Given the description of an element on the screen output the (x, y) to click on. 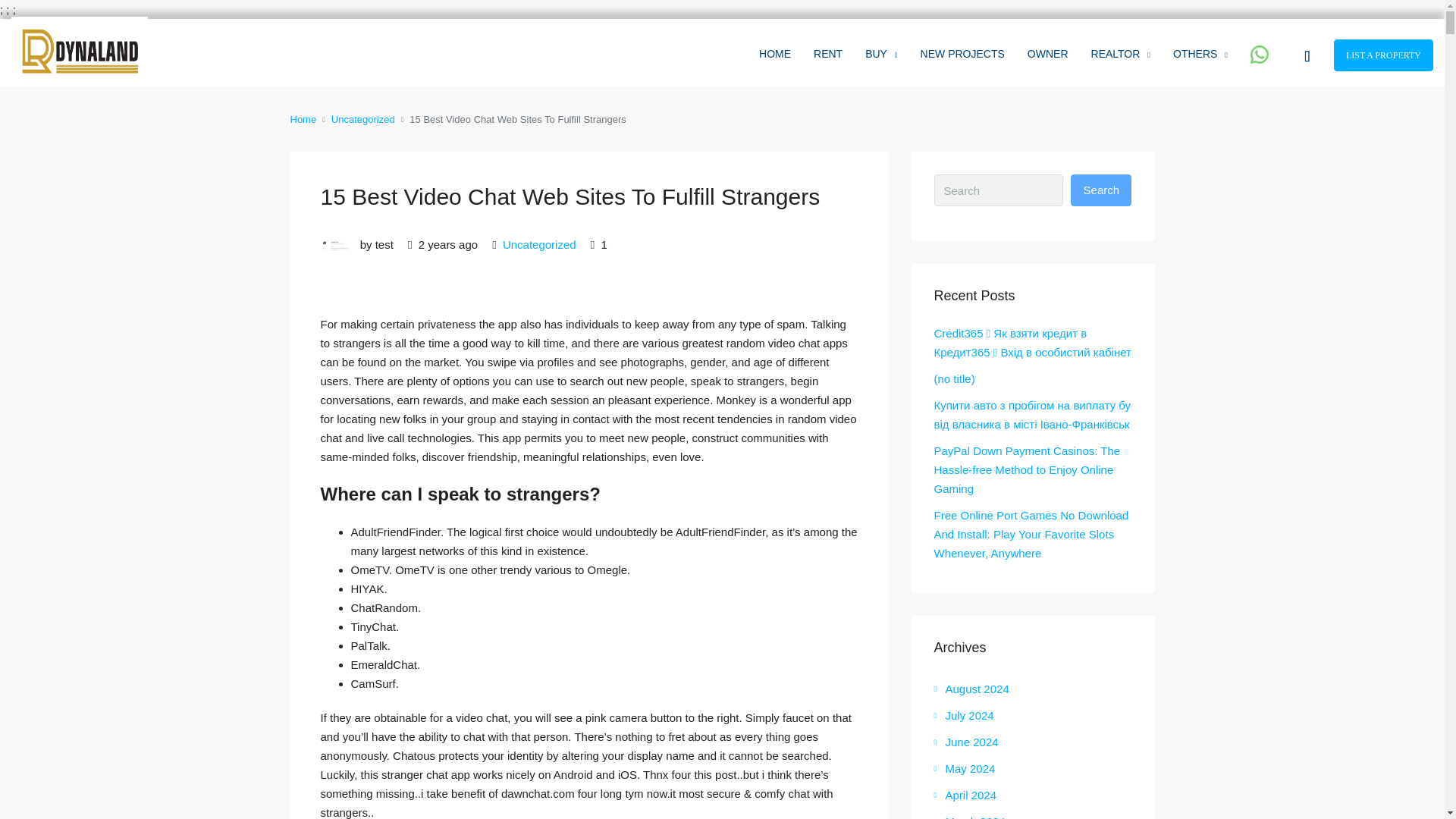
NEW PROJECTS (962, 53)
OWNER (1048, 53)
REALTOR (1120, 54)
